Given the description of an element on the screen output the (x, y) to click on. 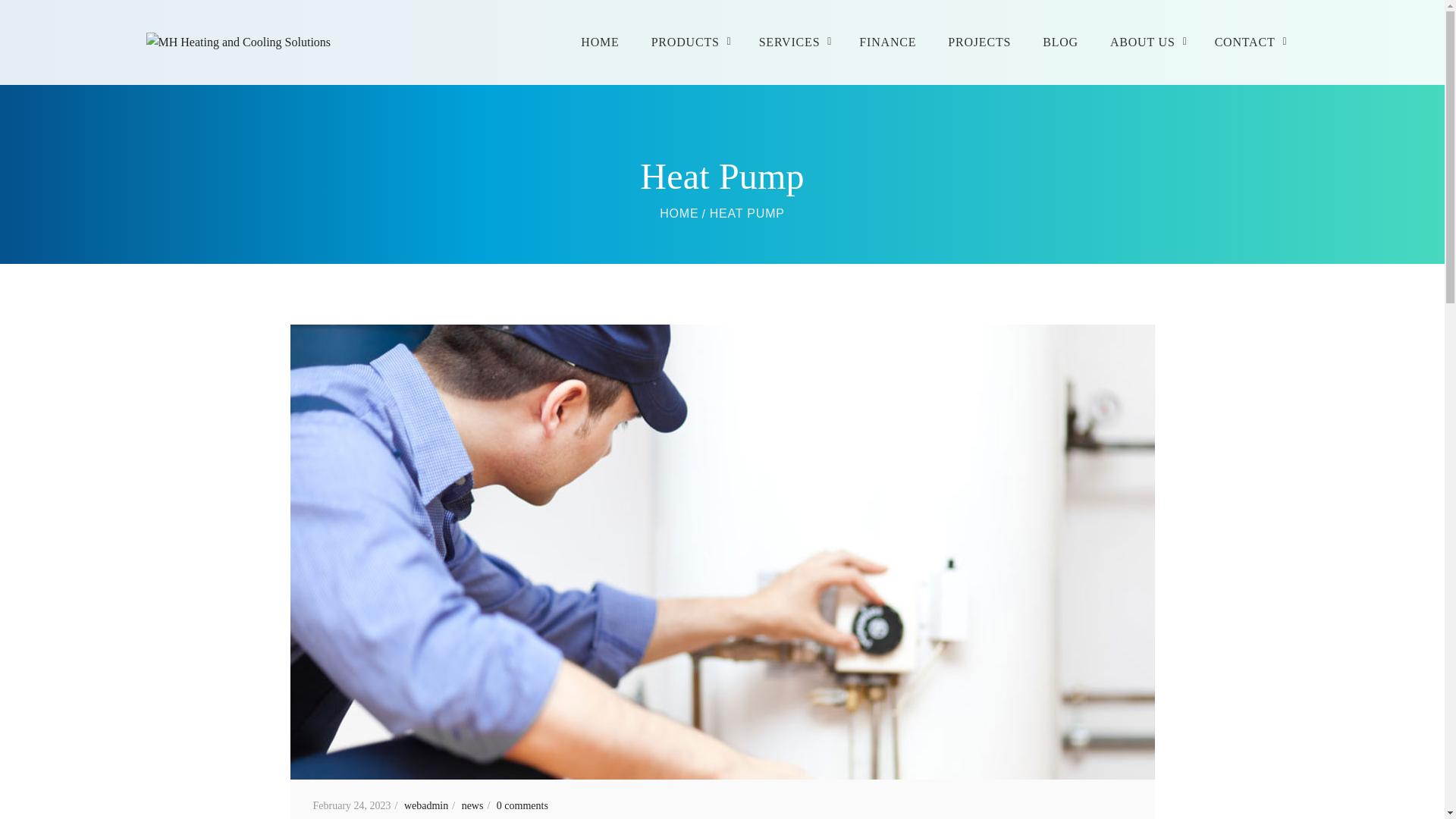
SERVICES (793, 41)
0 comments (522, 805)
HOME (678, 213)
FINANCE (887, 41)
MH Heating and Cooling Solutions (678, 213)
PRODUCTS (689, 41)
webadmin (431, 805)
news (478, 805)
PROJECTS (979, 41)
